Given the description of an element on the screen output the (x, y) to click on. 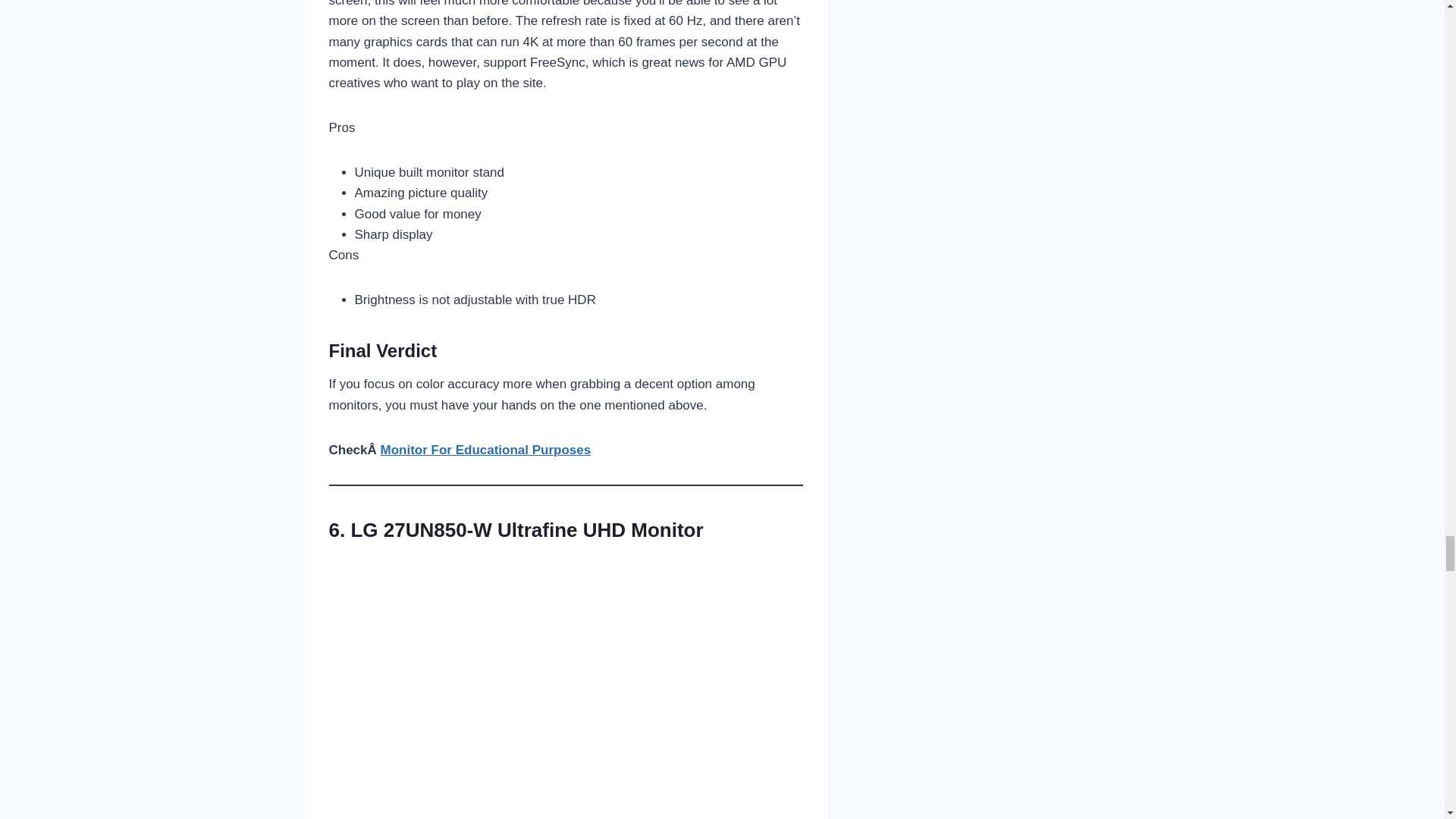
LG 27UN850-W Ultrafine UHD Monitor (526, 529)
Monitor For Educational Purposes (485, 450)
